Given the description of an element on the screen output the (x, y) to click on. 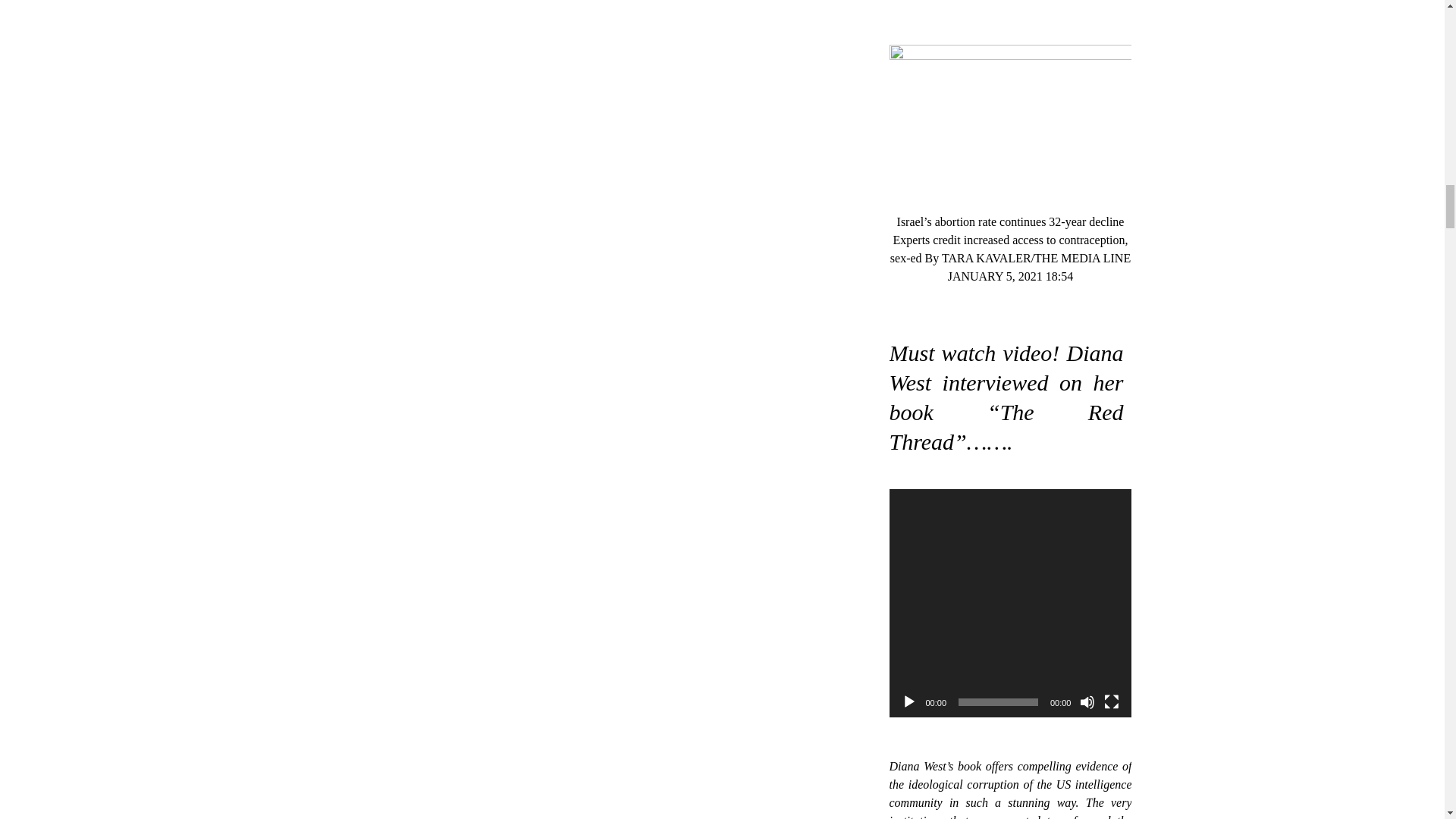
Mute (1087, 702)
Play (908, 702)
Fullscreen (1111, 702)
